Given the description of an element on the screen output the (x, y) to click on. 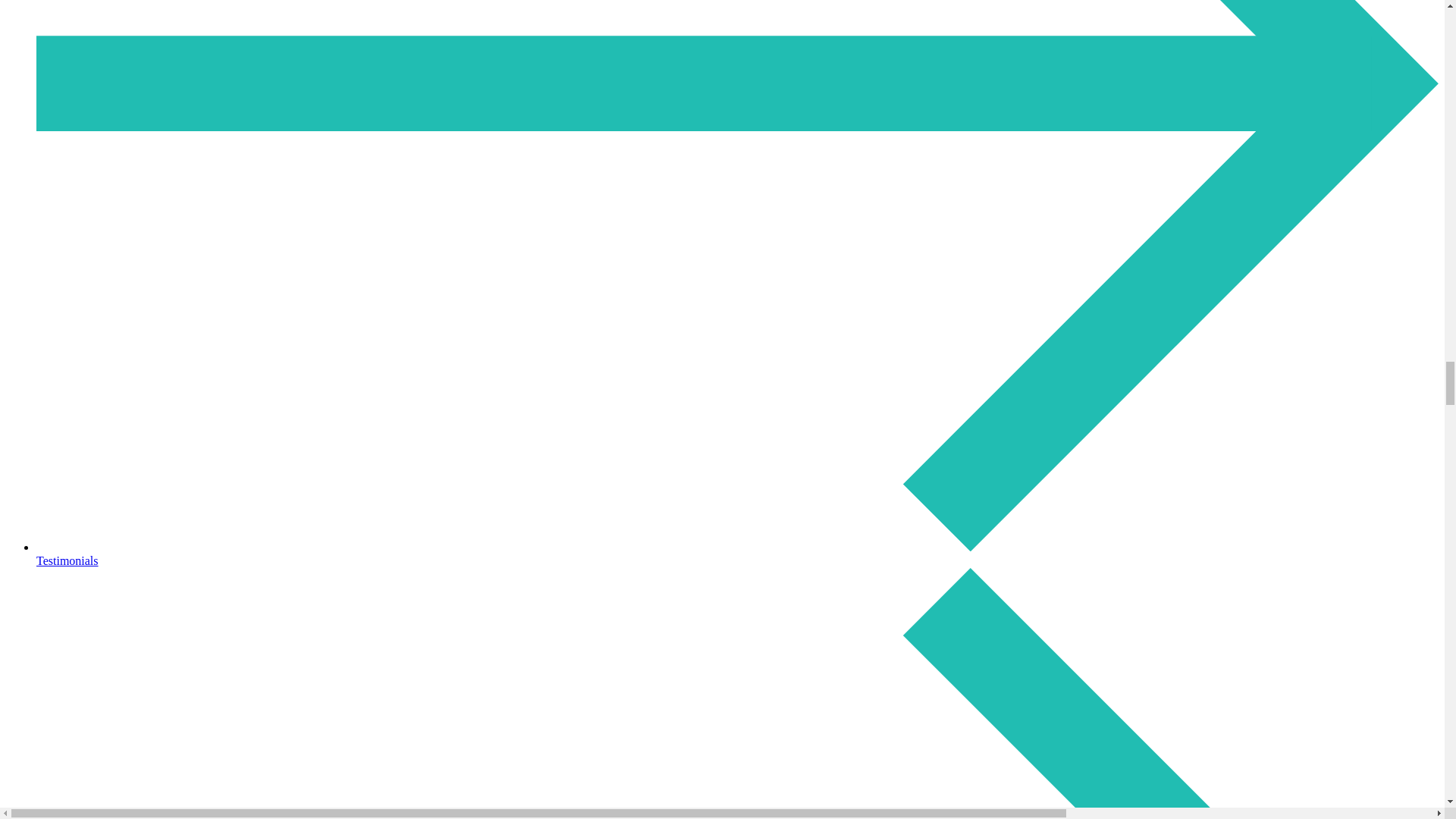
Testimonials (737, 553)
